Given the description of an element on the screen output the (x, y) to click on. 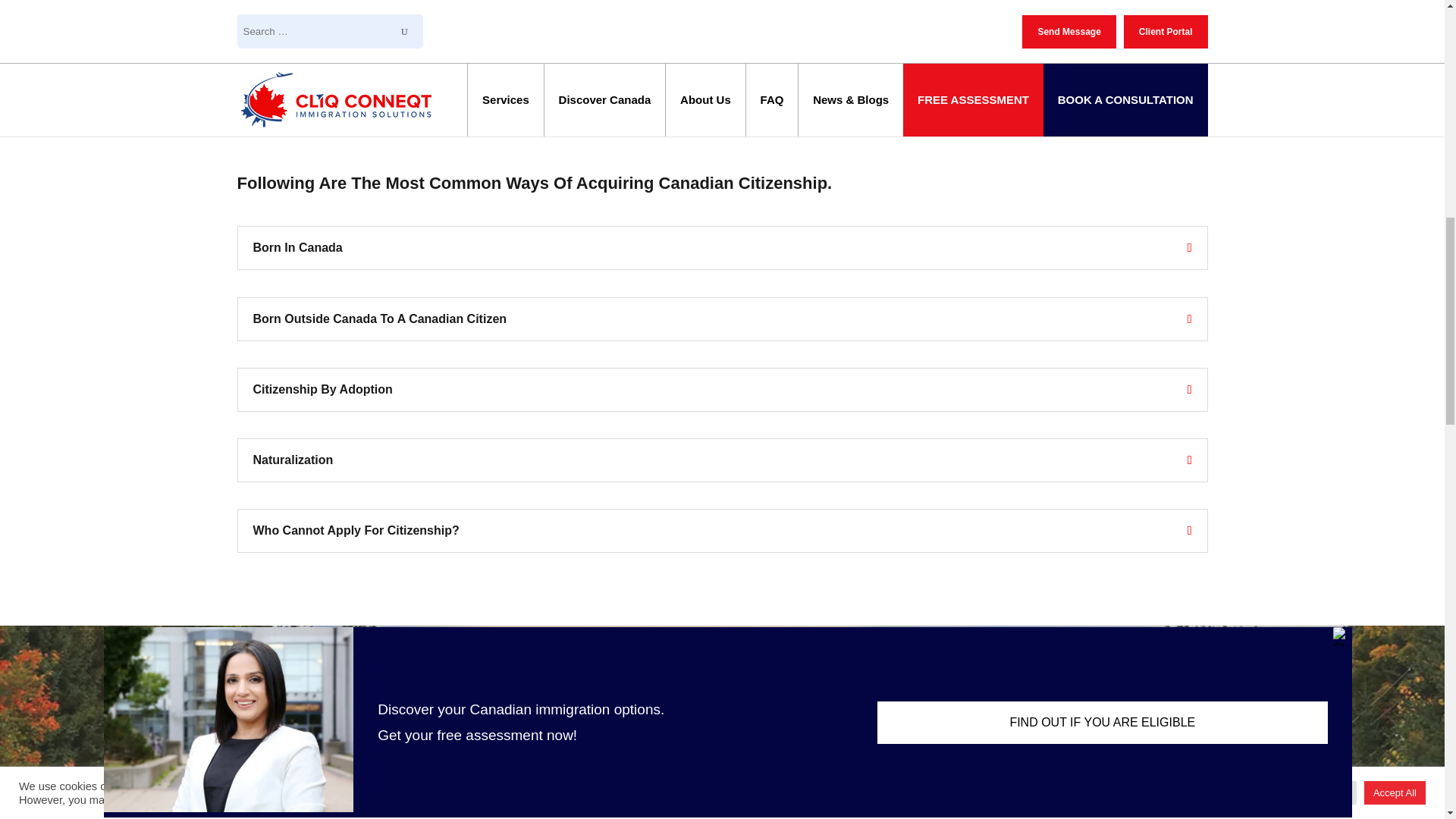
Canadian flags in the sky (978, 63)
